Given the description of an element on the screen output the (x, y) to click on. 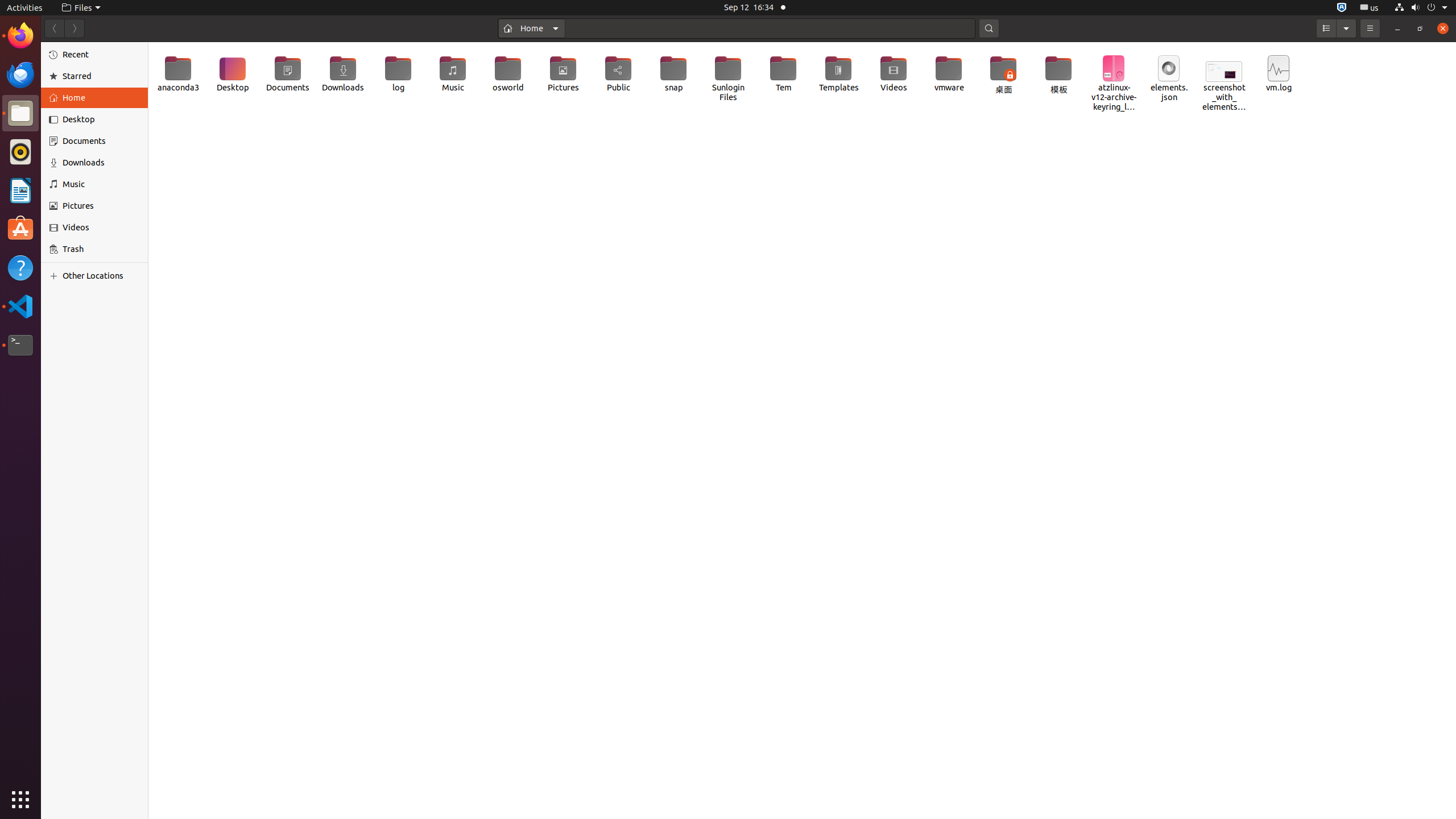
osworld Element type: canvas (507, 73)
Documents Element type: canvas (287, 73)
Downloads Element type: canvas (342, 73)
